Given the description of an element on the screen output the (x, y) to click on. 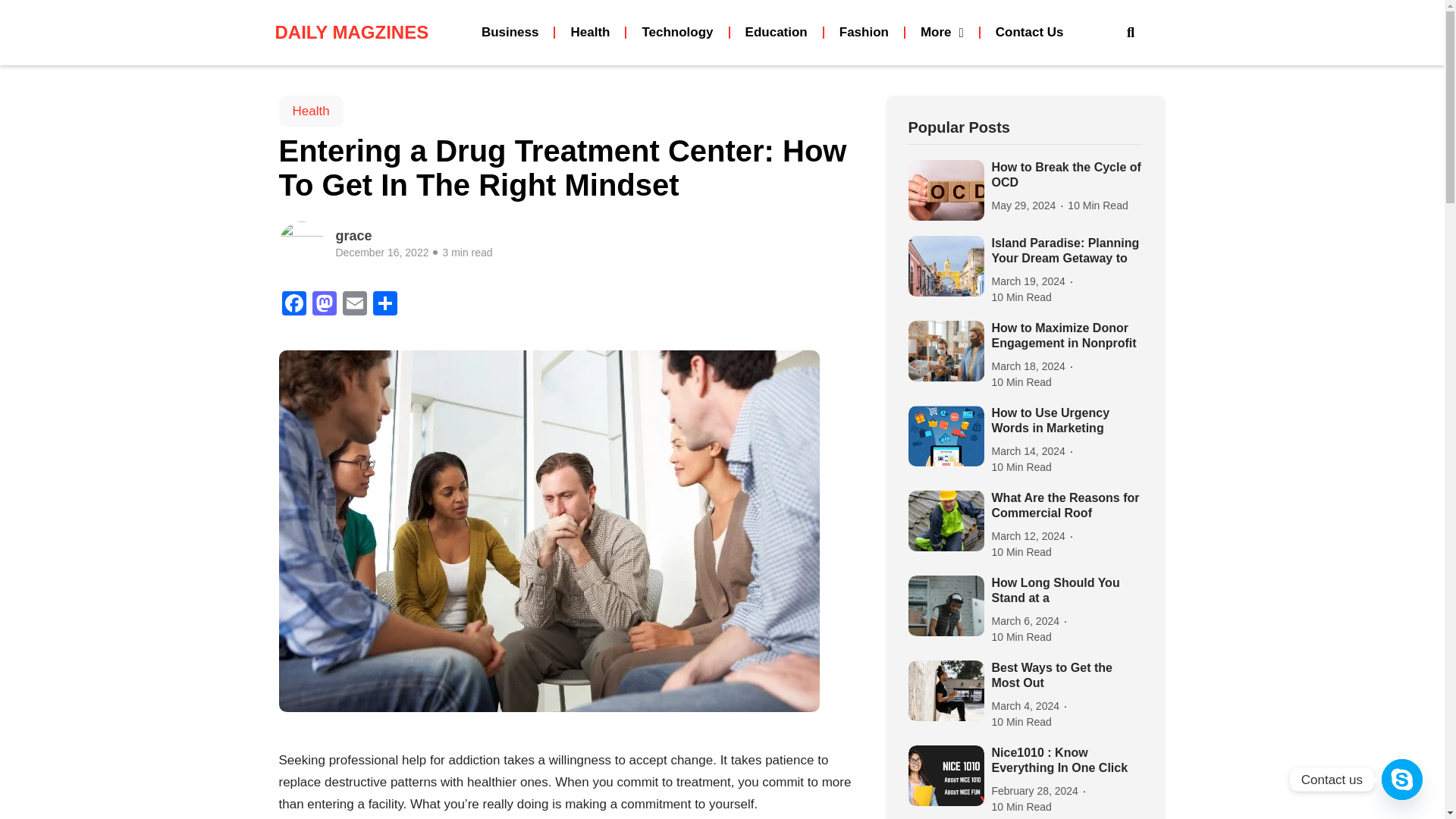
Facebook (293, 305)
Business (509, 32)
More (941, 32)
Technology (677, 32)
Mastodon (323, 305)
Fashion (864, 32)
DAILY MAGZINES (358, 32)
Health (589, 32)
Education (776, 32)
Contact Us (1028, 32)
Email (354, 305)
